Given the description of an element on the screen output the (x, y) to click on. 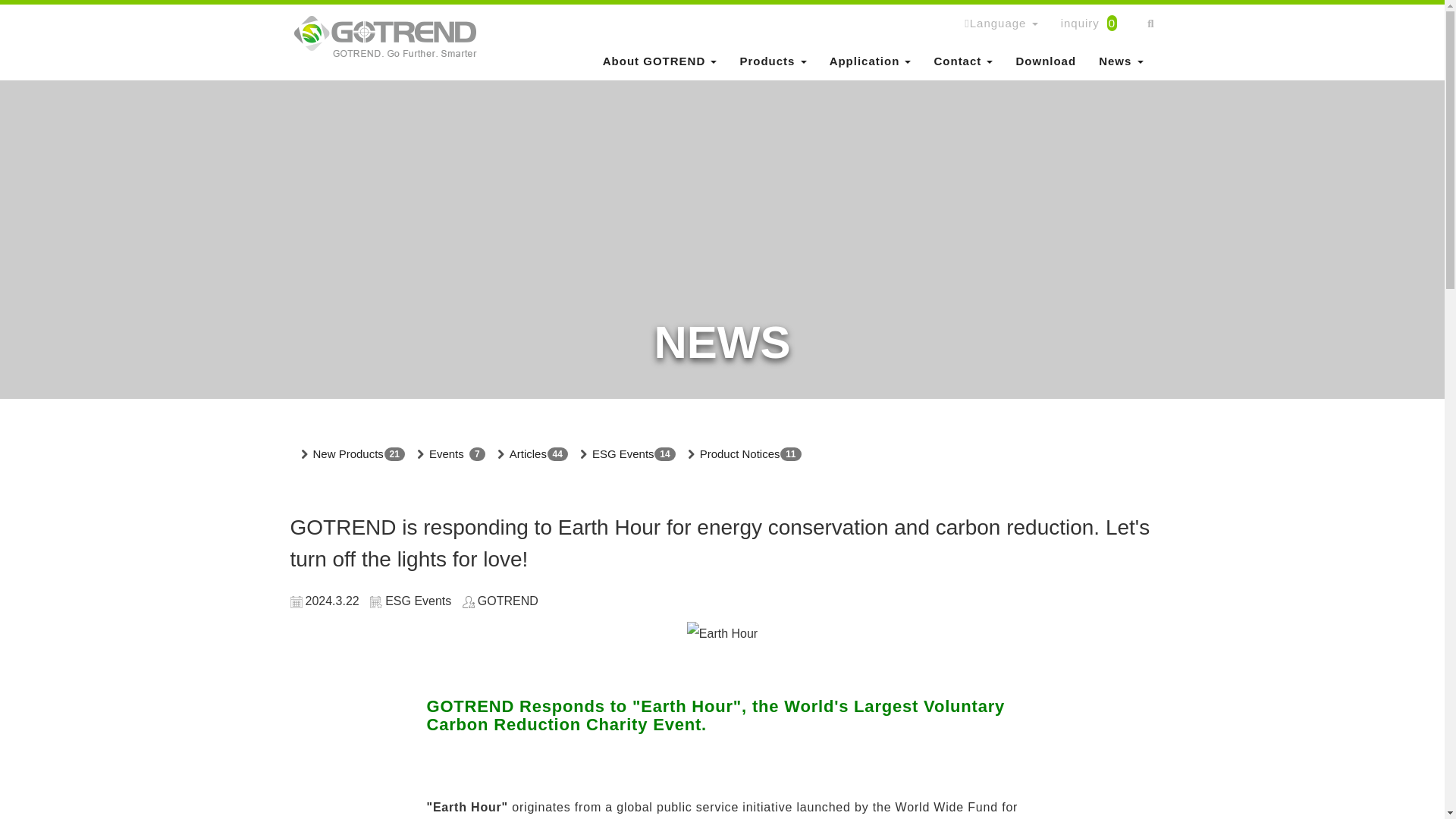
Events (446, 454)
Contact (962, 61)
Application (870, 61)
inquiry0 (1093, 23)
ESG Events (623, 454)
Articles  (527, 454)
Product  Notices (740, 454)
New Products (347, 454)
Language (1000, 23)
Products (772, 61)
